Given the description of an element on the screen output the (x, y) to click on. 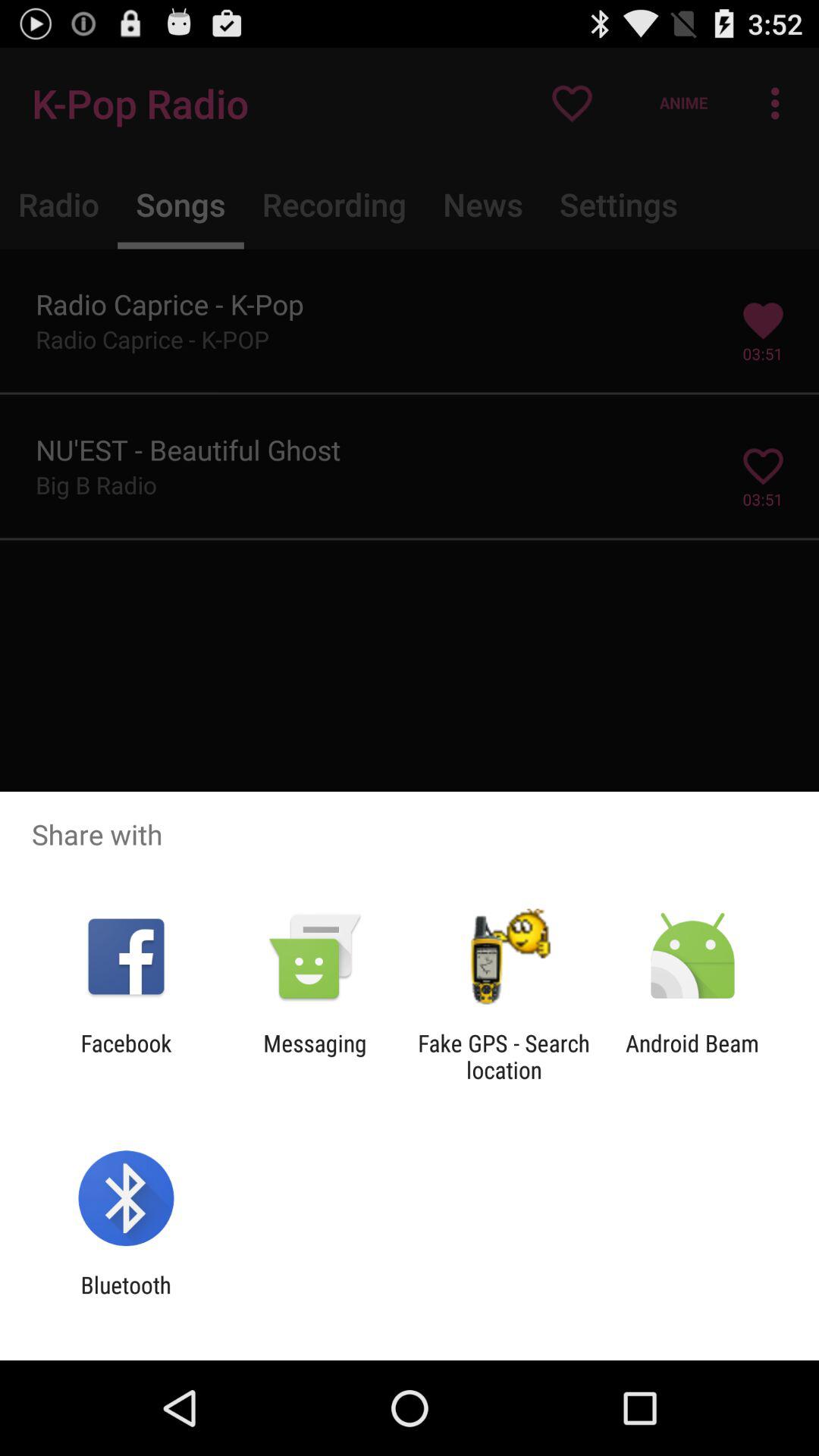
turn on app next to the messaging (125, 1056)
